Given the description of an element on the screen output the (x, y) to click on. 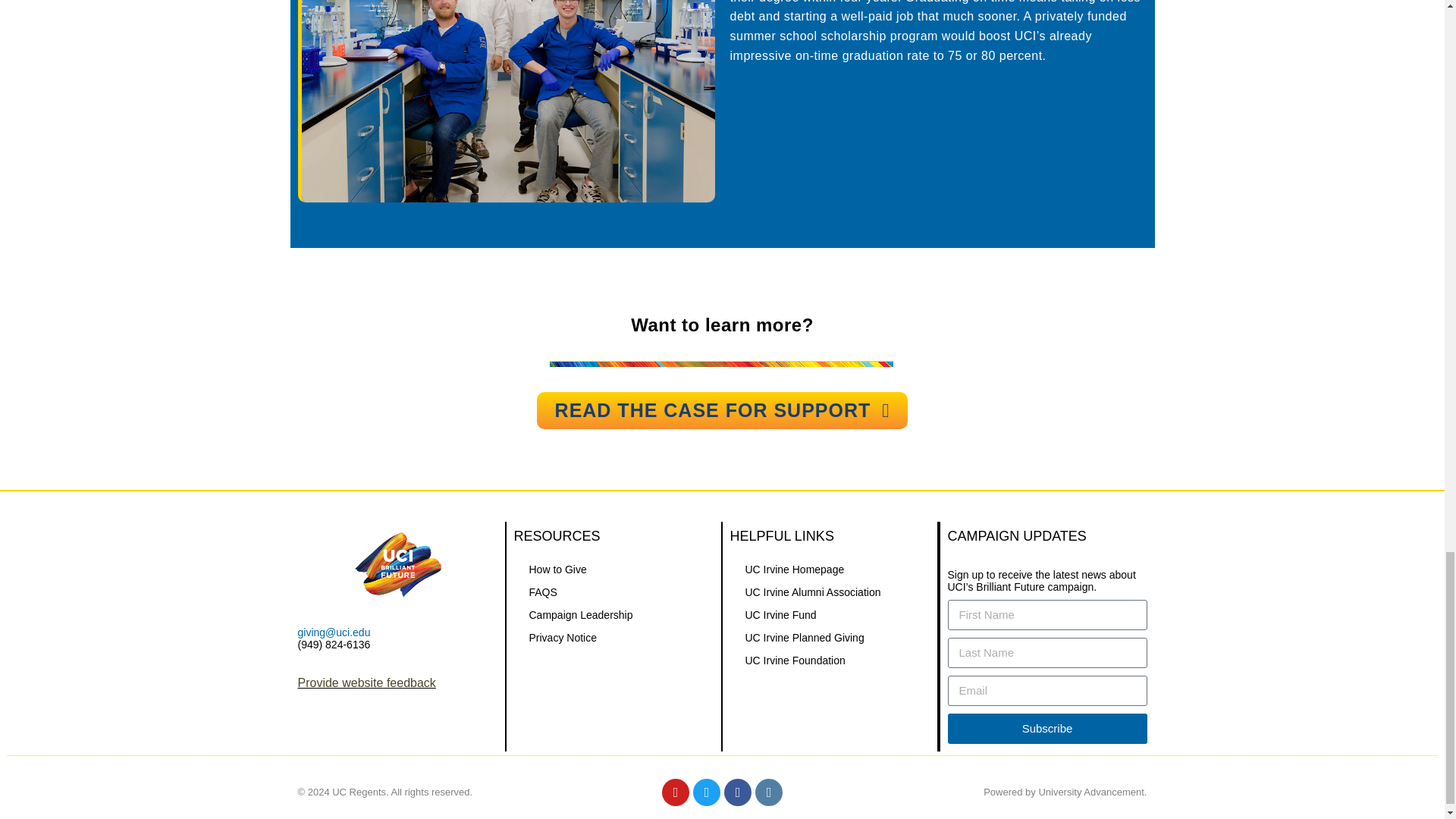
Subscribe (1047, 728)
UC Irvine Alumni Association (828, 591)
Provide website feedback (366, 682)
FAQS (613, 591)
UC Irvine Fund (828, 614)
Campaign Leadership (613, 614)
UC Irvine Planned Giving (828, 637)
How to Give (613, 568)
READ THE CASE FOR SUPPORT (722, 410)
UC Irvine Homepage (828, 568)
UC Irvine Foundation (828, 660)
Privacy Notice (613, 637)
